Given the description of an element on the screen output the (x, y) to click on. 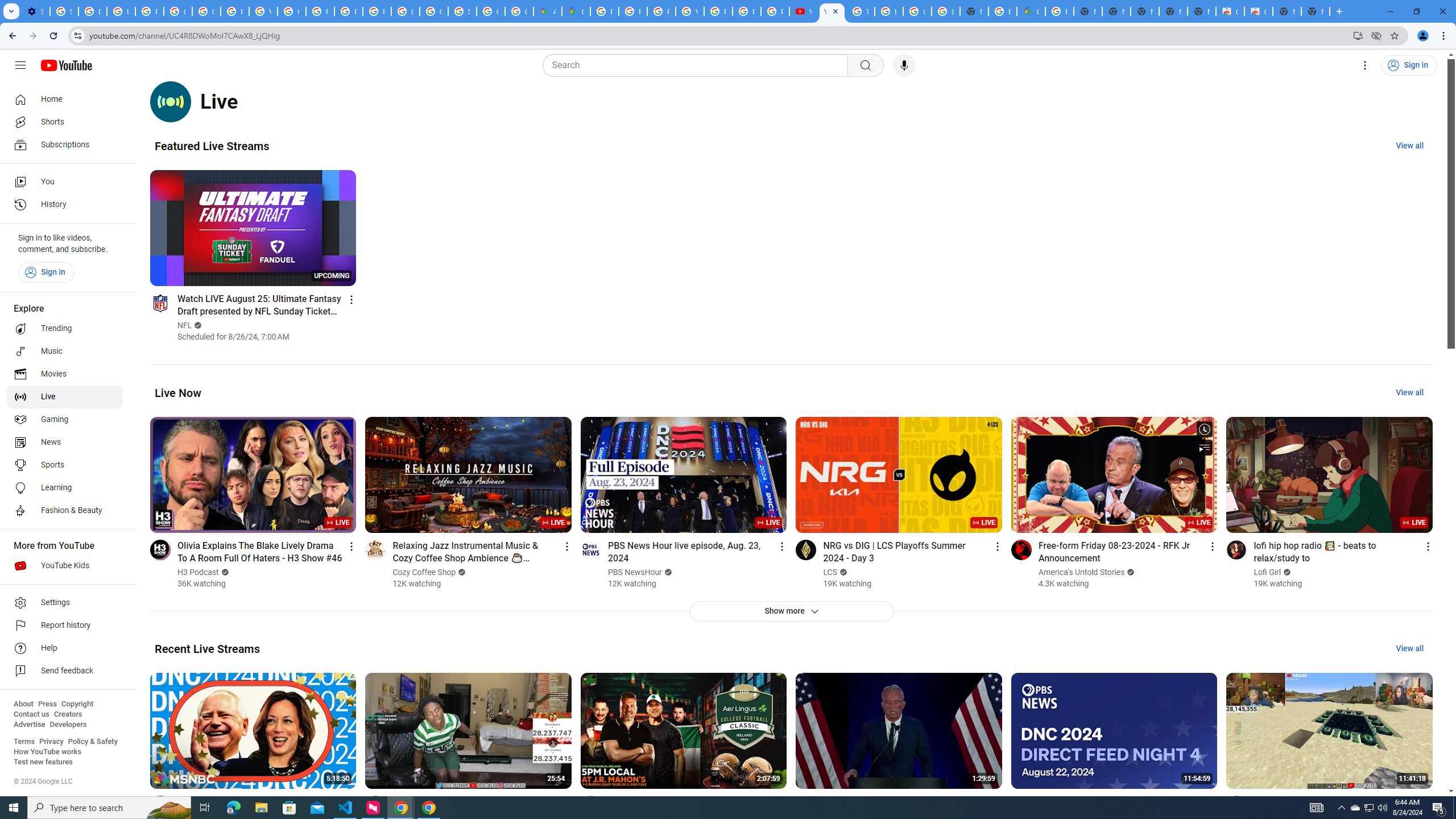
Learning (64, 487)
History (64, 204)
PBS NewsHour (634, 572)
Cozy Coffee Shop (425, 572)
